Given the description of an element on the screen output the (x, y) to click on. 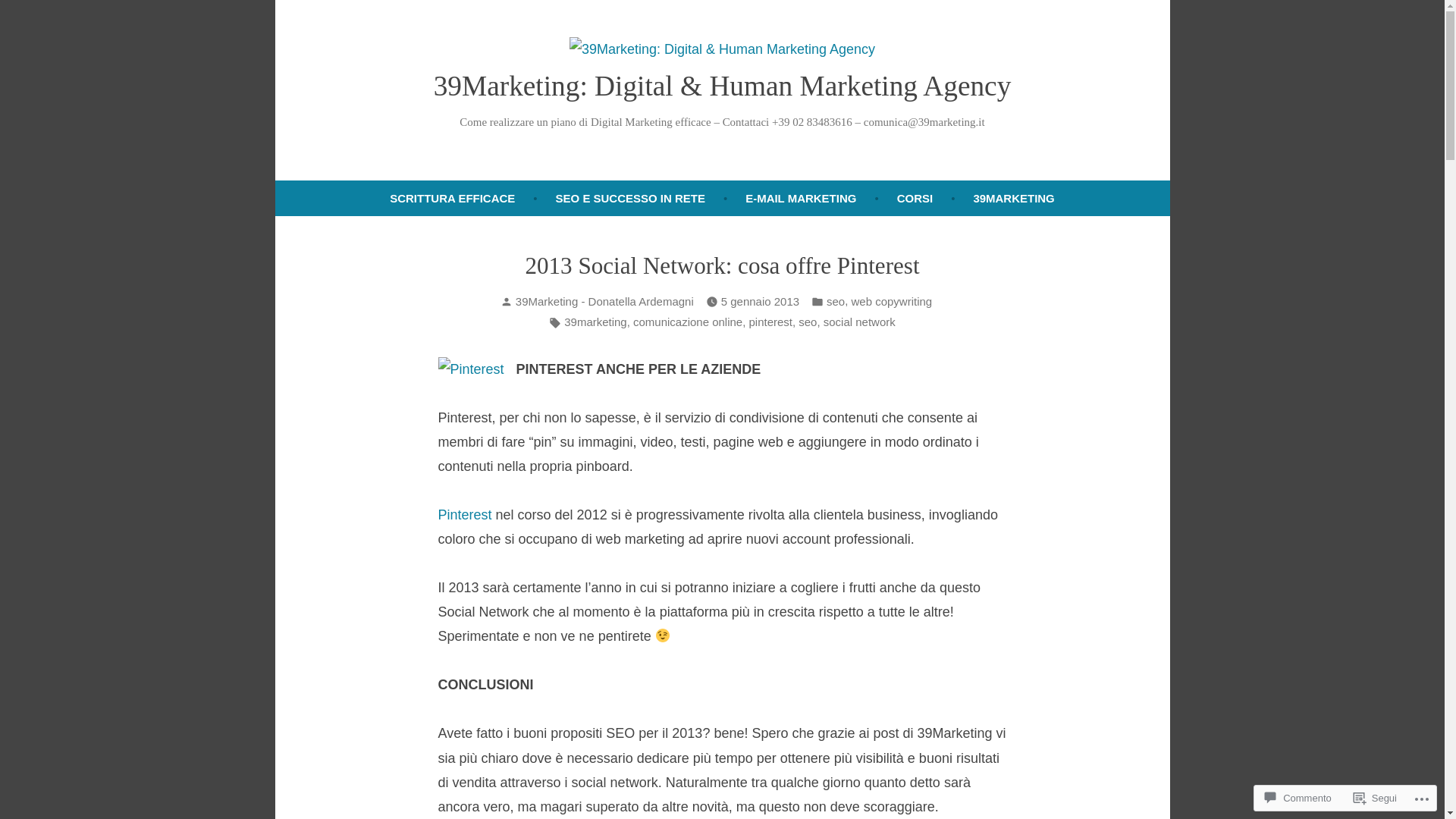
39marketing Element type: text (595, 322)
CORSI Element type: text (914, 198)
39MARKETING Element type: text (1013, 198)
SEO E SUCCESSO IN RETE Element type: text (630, 198)
SCRITTURA EFFICACE Element type: text (452, 198)
E-MAIL MARKETING Element type: text (800, 198)
Segui Element type: text (1374, 797)
comunicazione online Element type: text (687, 322)
social network Element type: text (859, 322)
5 gennaio 2013 Element type: text (760, 301)
pinterest Element type: text (769, 322)
39Marketing: Digital & Human Marketing Agency Element type: text (722, 85)
39Marketing - Donatella Ardemagni Element type: text (604, 300)
web copywriting Element type: text (891, 301)
Commento Element type: text (1297, 797)
seo Element type: text (835, 301)
seo Element type: text (807, 322)
Pinterest Element type: text (466, 514)
